Given the description of an element on the screen output the (x, y) to click on. 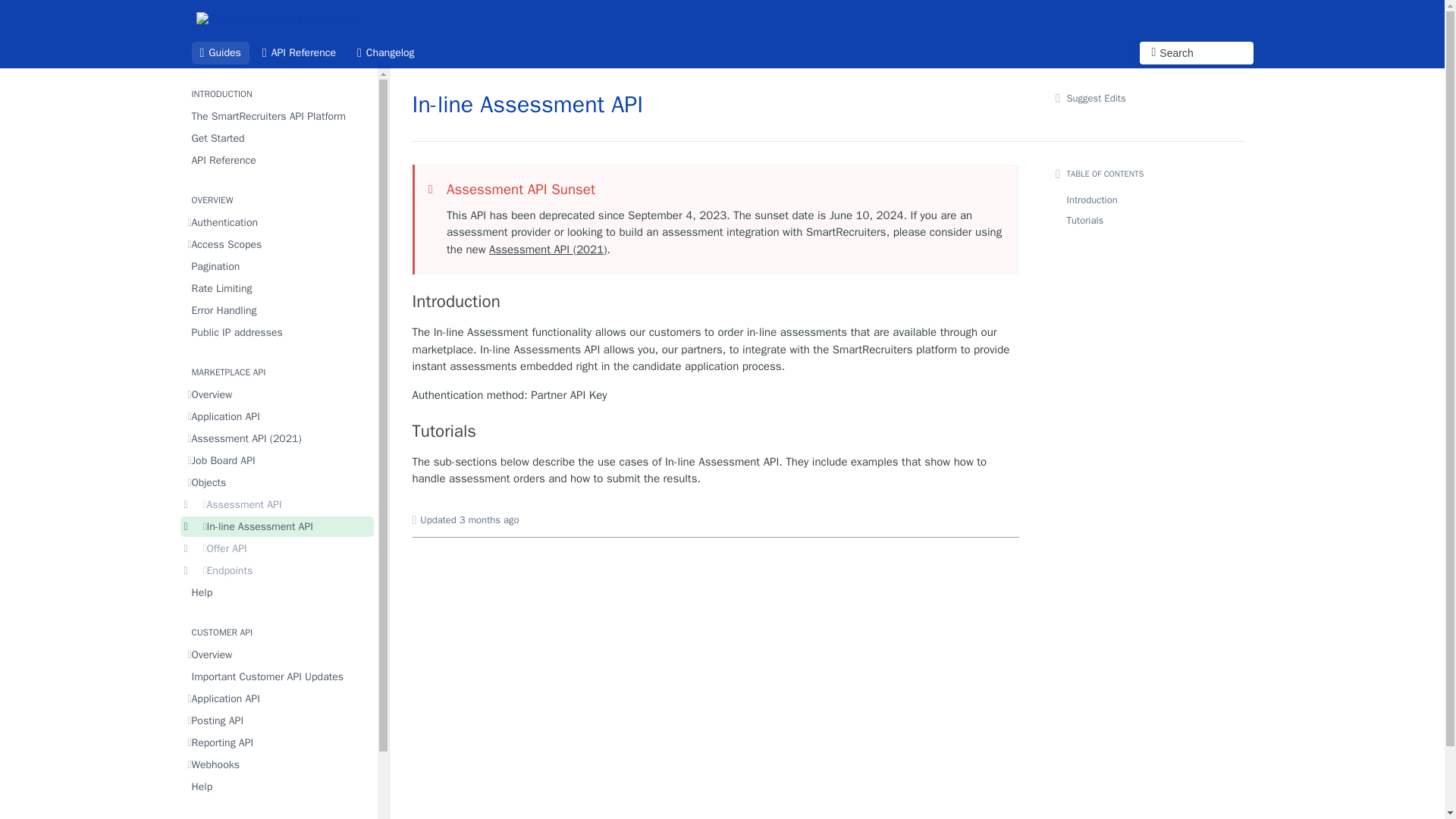
Changelog (386, 52)
Get Started (277, 137)
Application API (277, 416)
Public IP addresses (277, 332)
Access Scopes (277, 244)
Pagination (277, 266)
Rate Limiting (277, 288)
Overview (277, 394)
Authentication (277, 222)
Search (1195, 52)
API Reference (277, 159)
Introduction (715, 301)
The SmartRecruiters API Platform (277, 116)
Error Handling (277, 310)
Guides (219, 52)
